Given the description of an element on the screen output the (x, y) to click on. 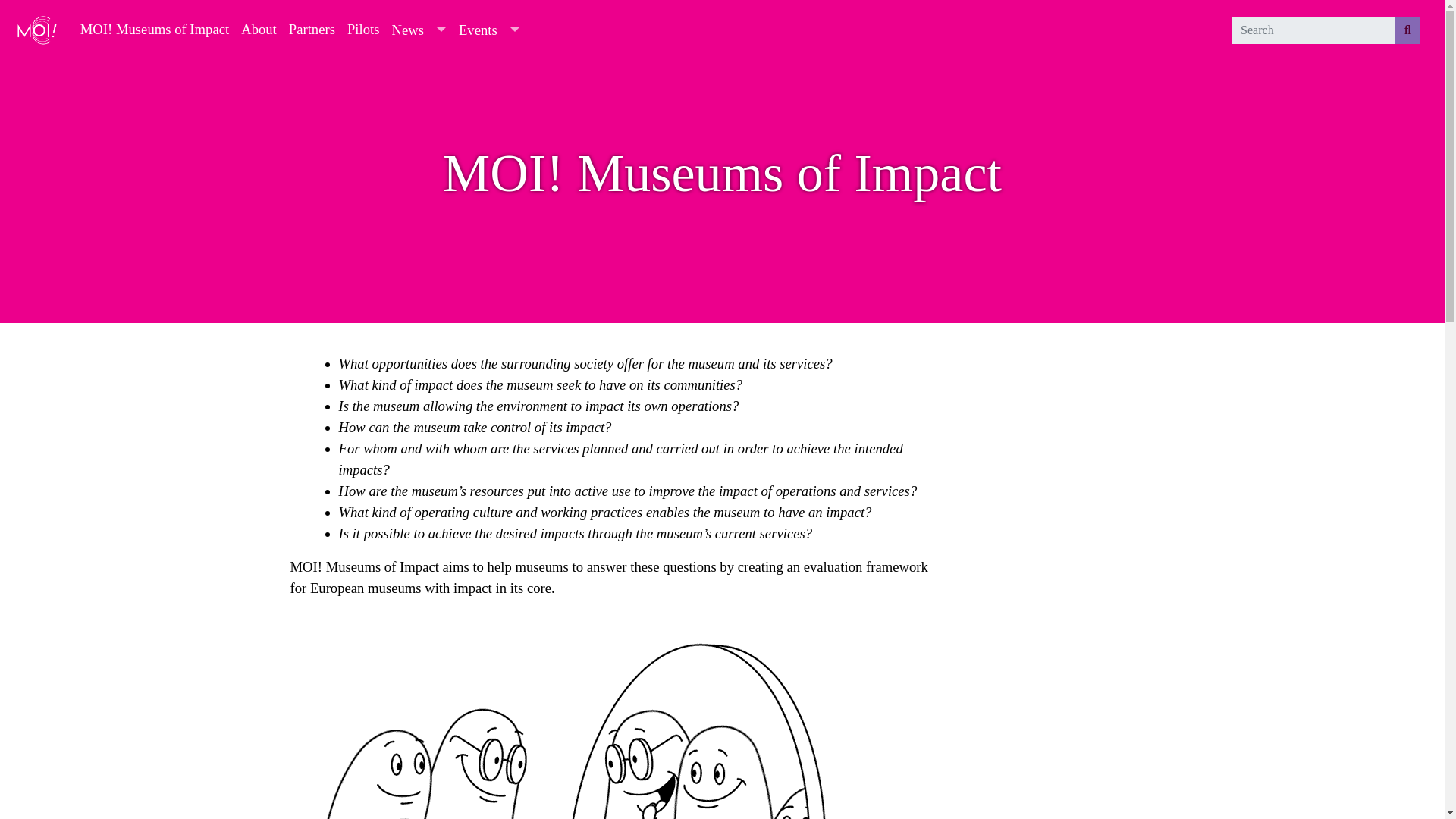
Events (477, 29)
MOI! Museums of Impact (154, 29)
About (258, 29)
News (407, 29)
Pilots (362, 29)
Partners (311, 29)
